Given the description of an element on the screen output the (x, y) to click on. 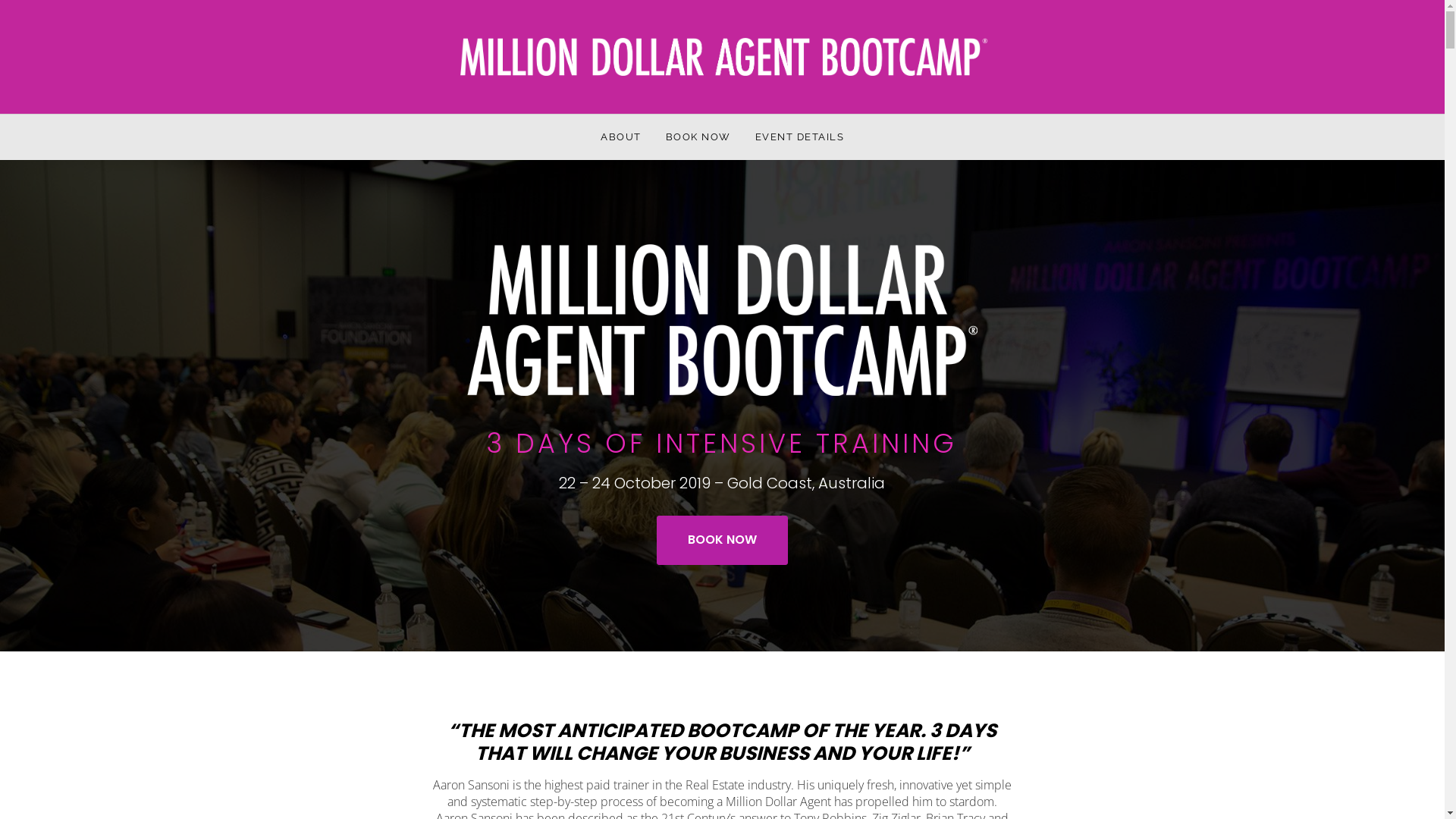
BOOK NOW Element type: text (721, 539)
EVENT DETAILS Element type: text (799, 137)
BOOK NOW Element type: text (698, 137)
ABOUT Element type: text (620, 137)
